Given the description of an element on the screen output the (x, y) to click on. 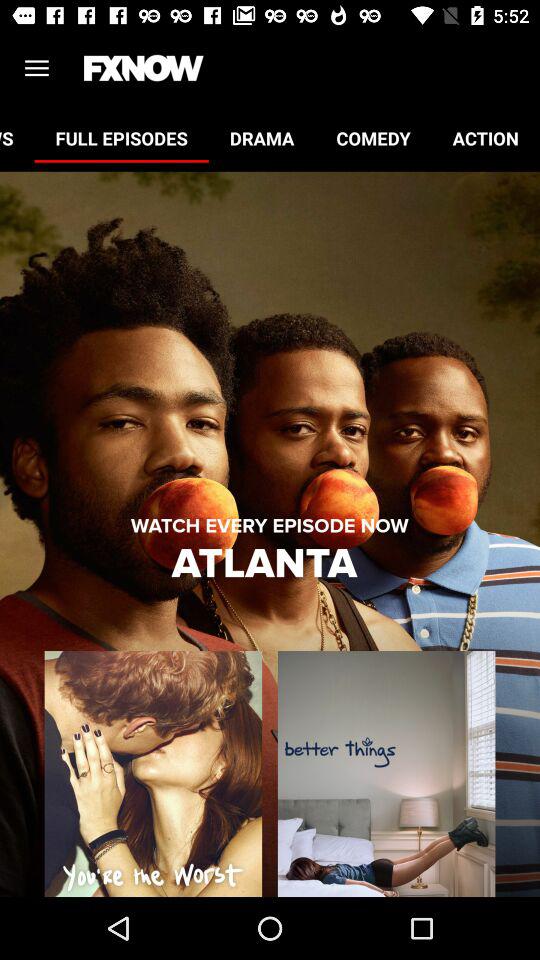
open the item next to the all shows (121, 138)
